Given the description of an element on the screen output the (x, y) to click on. 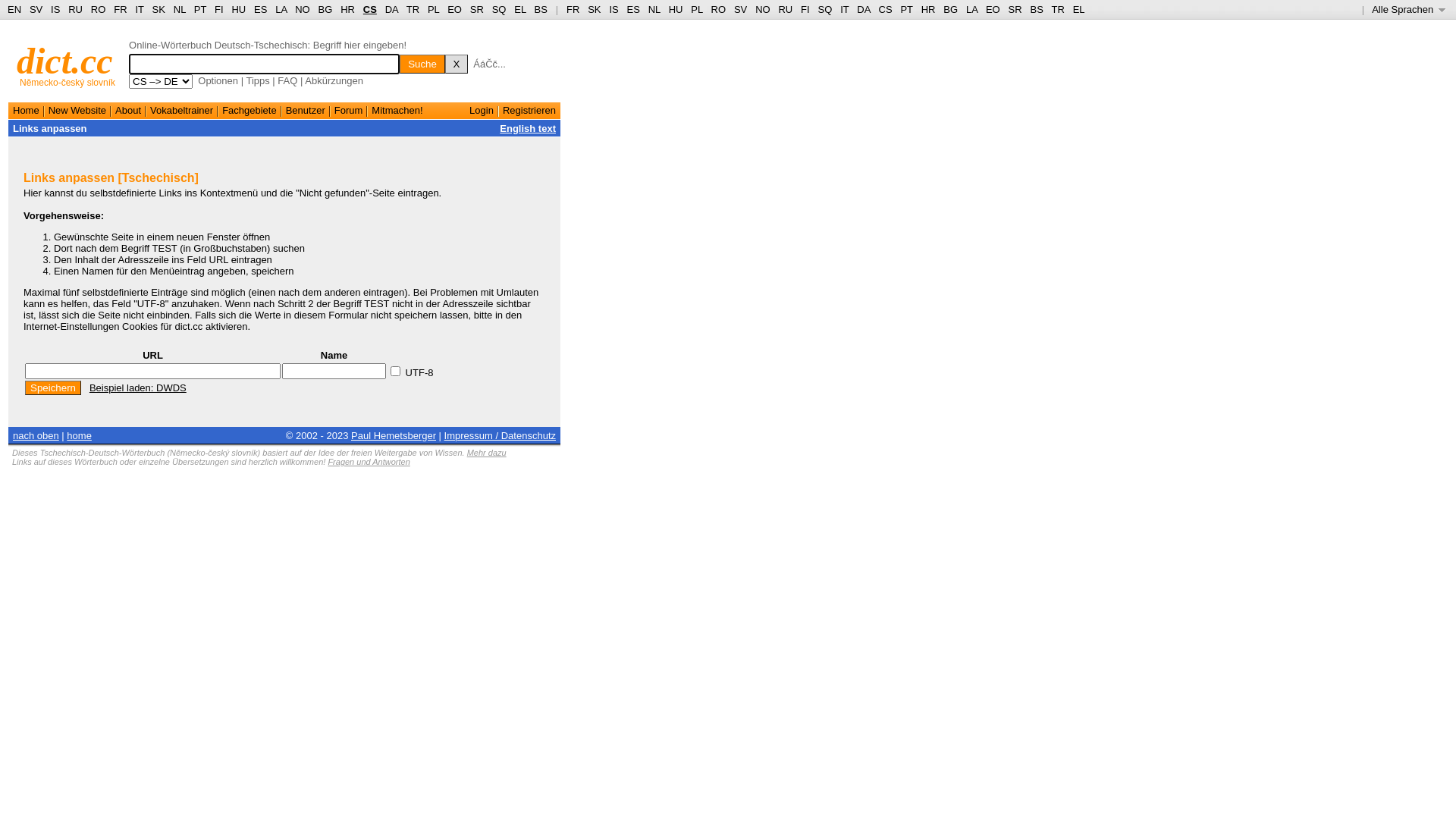
DA Element type: text (862, 9)
IT Element type: text (138, 9)
BG Element type: text (325, 9)
IT Element type: text (844, 9)
HU Element type: text (675, 9)
EO Element type: text (992, 9)
Registrieren Element type: text (528, 110)
FI Element type: text (804, 9)
NL Element type: text (654, 9)
HR Element type: text (347, 9)
LA Element type: text (971, 9)
NL Element type: text (179, 9)
Vokabeltrainer Element type: text (181, 110)
New Website Element type: text (77, 110)
TR Element type: text (412, 9)
Beispiel laden: DWDS Element type: text (137, 387)
PT Element type: text (906, 9)
EN Element type: text (14, 9)
Alle Sprachen  Element type: text (1408, 9)
Tipps Element type: text (257, 80)
ES Element type: text (633, 9)
Paul Hemetsberger Element type: text (393, 434)
FR Element type: text (572, 9)
BG Element type: text (950, 9)
SQ Element type: text (499, 9)
FAQ Element type: text (287, 80)
PT Element type: text (200, 9)
Optionen Element type: text (217, 80)
SQ Element type: text (824, 9)
RU Element type: text (75, 9)
RO Element type: text (98, 9)
CS Element type: text (369, 9)
FI Element type: text (218, 9)
Fragen und Antworten Element type: text (368, 461)
SV Element type: text (35, 9)
SK Element type: text (593, 9)
ES Element type: text (260, 9)
BS Element type: text (1035, 9)
NO Element type: text (762, 9)
home Element type: text (78, 434)
About Element type: text (128, 110)
BS Element type: text (540, 9)
Mitmachen! Element type: text (396, 110)
English text Element type: text (527, 128)
EL Element type: text (519, 9)
Mehr dazu Element type: text (486, 452)
Forum Element type: text (348, 110)
FR Element type: text (119, 9)
Suche Element type: text (422, 63)
PL Element type: text (696, 9)
nach oben Element type: text (35, 434)
Fachgebiete Element type: text (249, 110)
Benutzer Element type: text (305, 110)
HR Element type: text (928, 9)
LA Element type: text (280, 9)
Impressum / Datenschutz Element type: text (499, 434)
Home Element type: text (25, 110)
PL Element type: text (433, 9)
EO Element type: text (454, 9)
DA Element type: text (391, 9)
X Element type: text (456, 63)
SR Element type: text (1015, 9)
SR Element type: text (476, 9)
SV Element type: text (740, 9)
IS Element type: text (613, 9)
HU Element type: text (238, 9)
TR Element type: text (1057, 9)
SK Element type: text (158, 9)
Speichern Element type: text (53, 387)
dict.cc Element type: text (64, 60)
NO Element type: text (302, 9)
RO Element type: text (718, 9)
EL Element type: text (1079, 9)
RU Element type: text (785, 9)
CS Element type: text (884, 9)
Login Element type: text (481, 110)
IS Element type: text (54, 9)
